Given the description of an element on the screen output the (x, y) to click on. 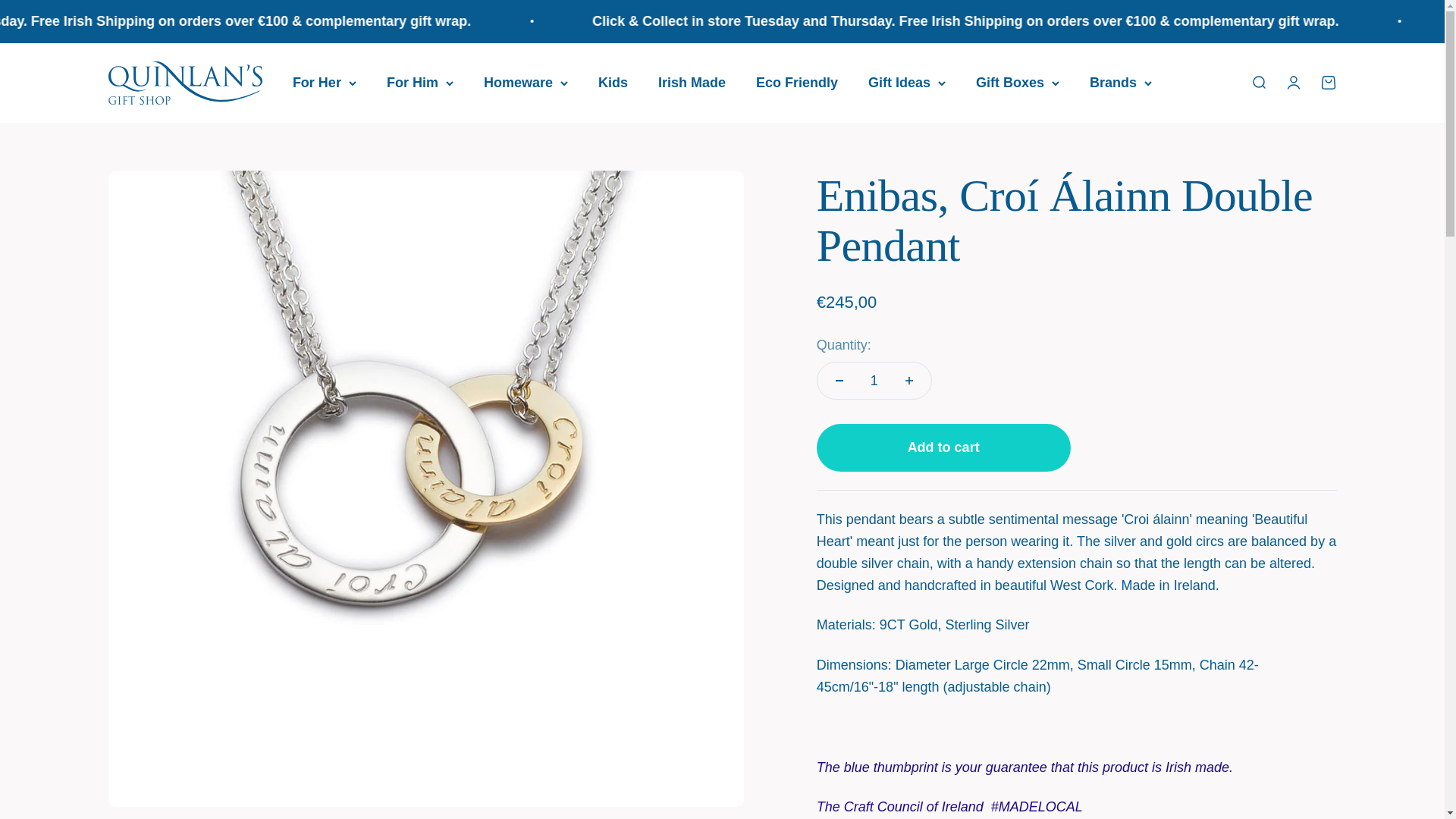
Kids (612, 82)
Eco Friendly (796, 82)
Irish Made (691, 82)
